Given the description of an element on the screen output the (x, y) to click on. 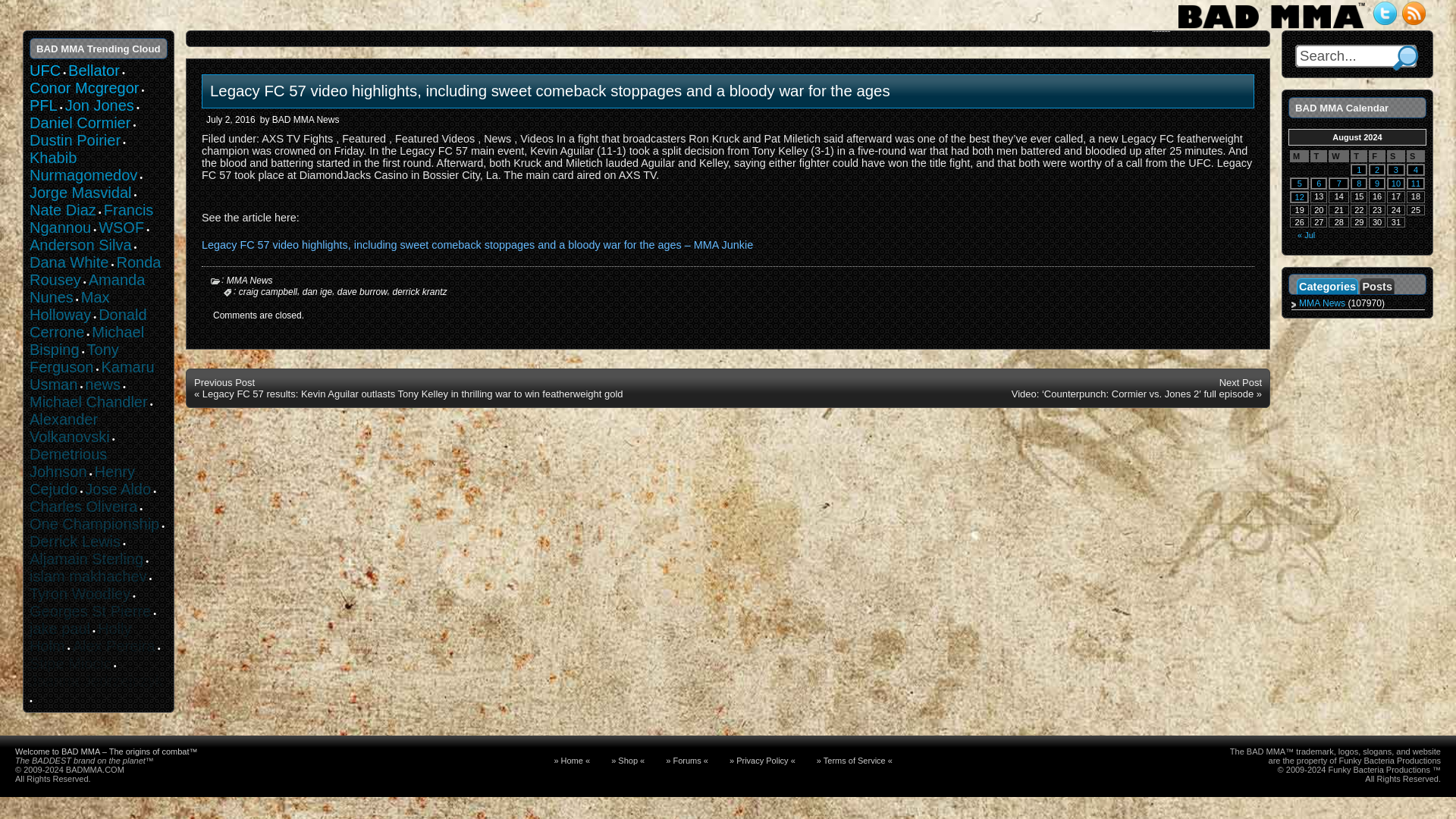
Donald Cerrone (88, 323)
Ronda Rousey (94, 270)
Dana White (69, 262)
View all posts in MMA News (250, 280)
Bellator (93, 70)
Jorge Masvidal (80, 192)
WSOF (121, 227)
1,844 topics (80, 122)
derrick krantz (418, 291)
2,208 topics (99, 105)
